Given the description of an element on the screen output the (x, y) to click on. 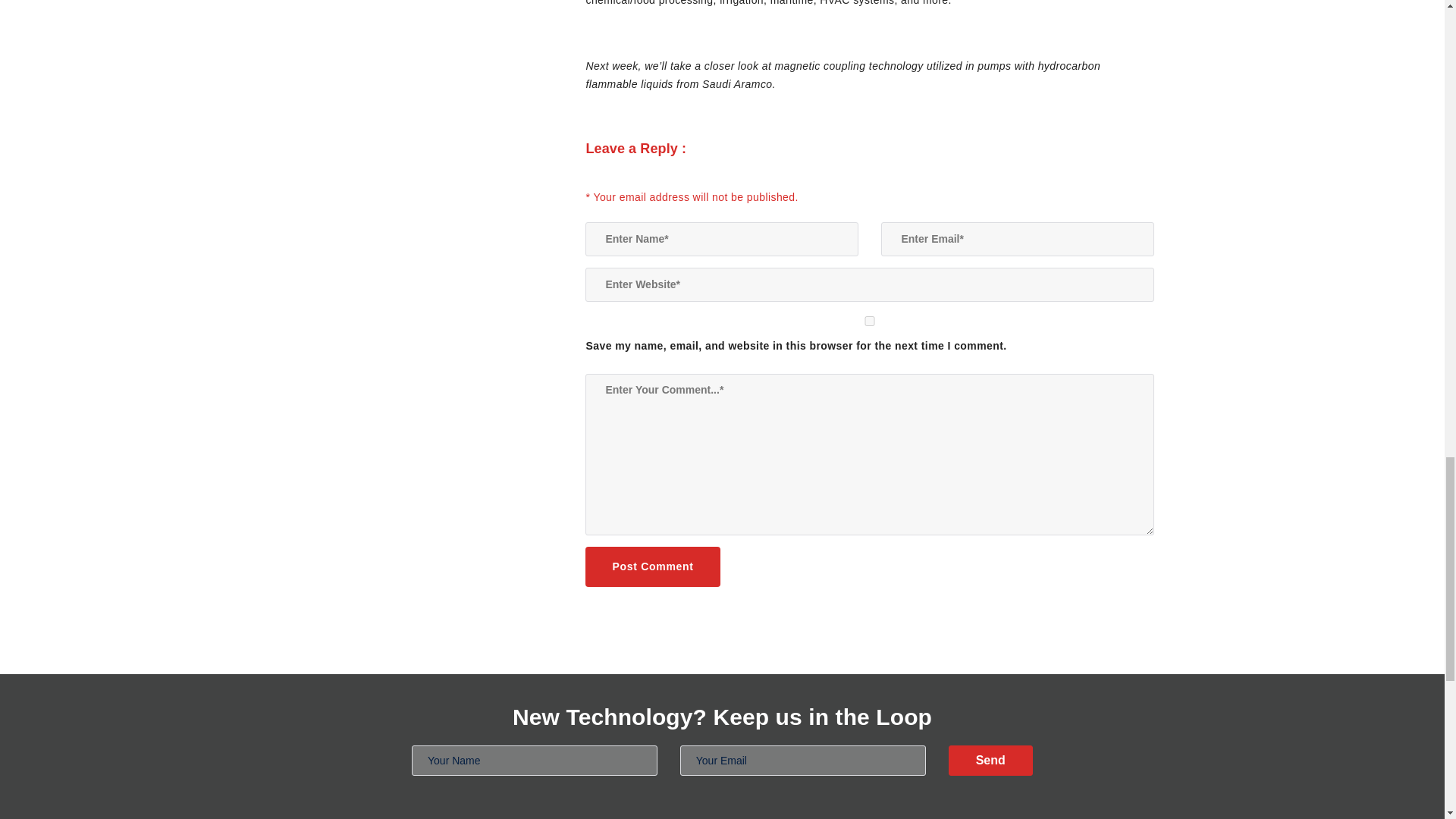
post comment (652, 567)
Send (989, 760)
yes (869, 320)
post comment (652, 567)
